Given the description of an element on the screen output the (x, y) to click on. 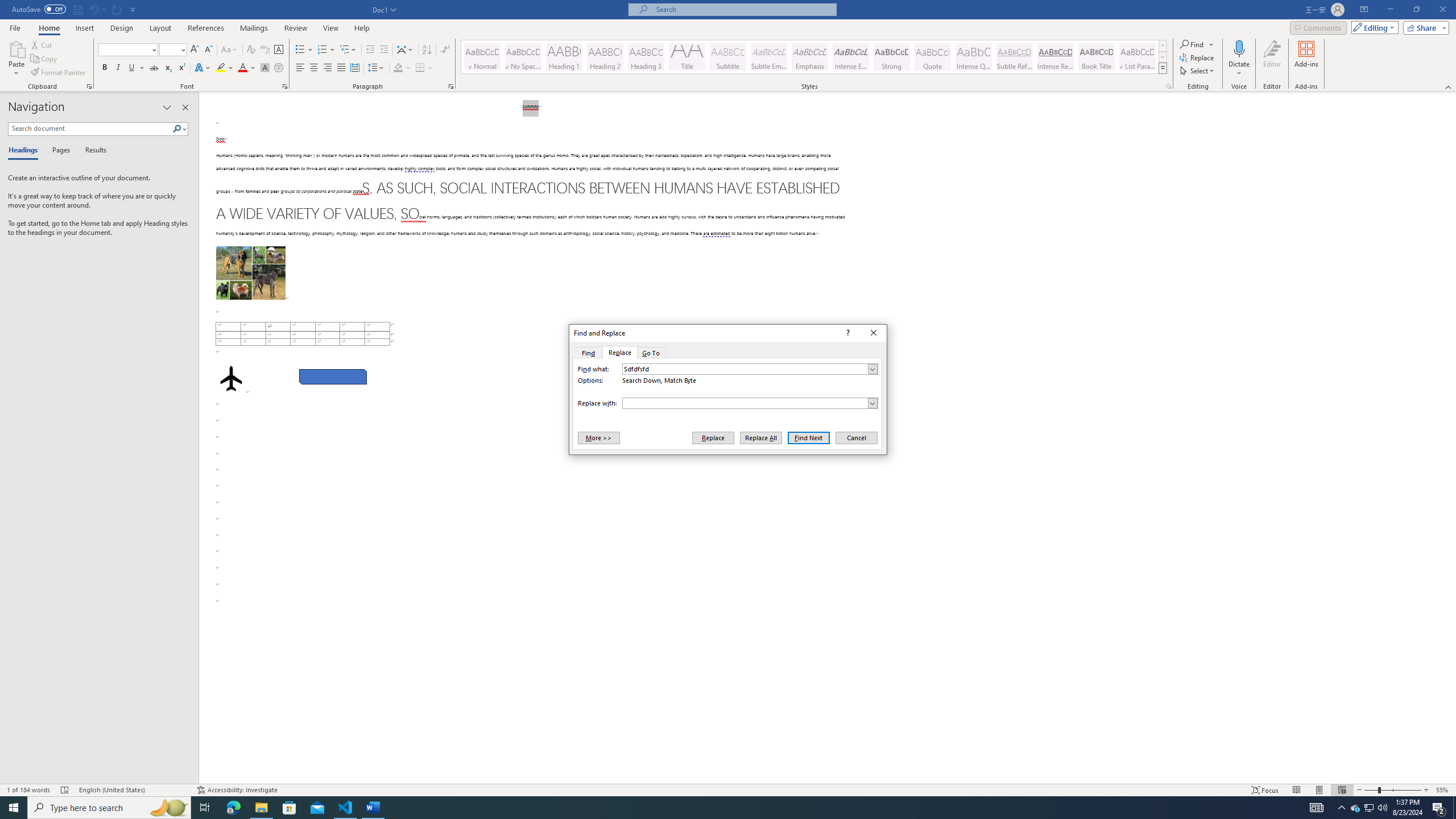
Styles... (1168, 85)
Copy (45, 58)
Strong (891, 56)
Action Center, 2 new notifications (1439, 807)
Visual Studio Code - 1 running window (1368, 807)
Text Effects and Typography (345, 807)
Font Color (202, 67)
AutomationID: QuickStylesGallery (246, 67)
Character Border (814, 56)
Show desktop (278, 49)
